Given the description of an element on the screen output the (x, y) to click on. 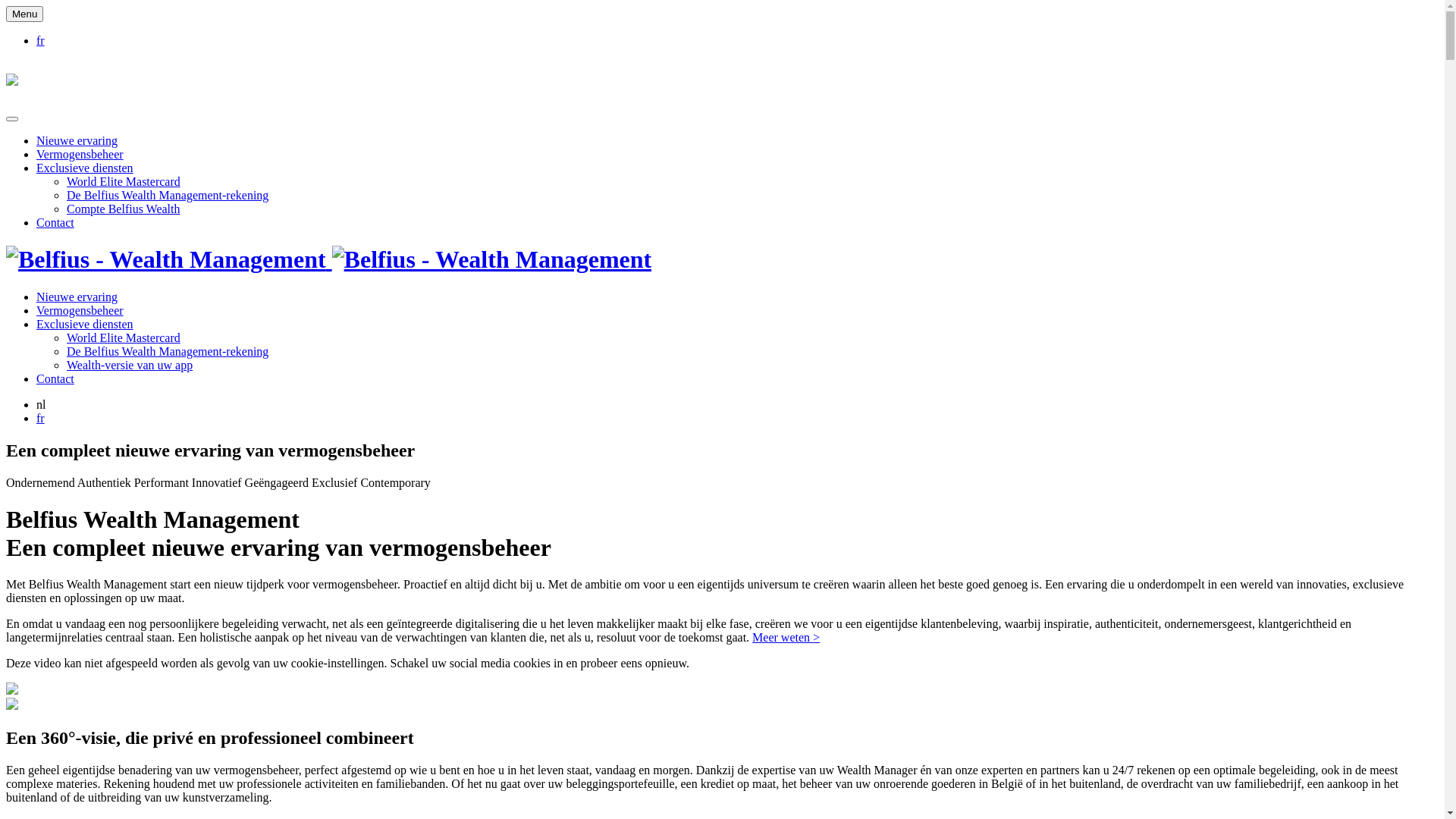
Meer weten > Element type: text (785, 636)
Menu Element type: text (24, 13)
Exclusieve diensten Element type: text (84, 167)
De Belfius Wealth Management-rekening Element type: text (167, 194)
fr Element type: text (40, 40)
De Belfius Wealth Management-rekening Element type: text (167, 351)
Vermogensbeheer Element type: text (79, 153)
Exclusieve diensten Element type: text (84, 323)
Nieuwe ervaring Element type: text (76, 296)
Contact Element type: text (55, 378)
Compte Belfius Wealth Element type: text (123, 208)
Wealth-versie van uw app Element type: text (129, 364)
World Elite Mastercard Element type: text (123, 337)
World Elite Mastercard Element type: text (123, 181)
fr Element type: text (40, 417)
Nieuwe ervaring Element type: text (76, 140)
Contact Element type: text (55, 222)
Vermogensbeheer Element type: text (79, 310)
